Given the description of an element on the screen output the (x, y) to click on. 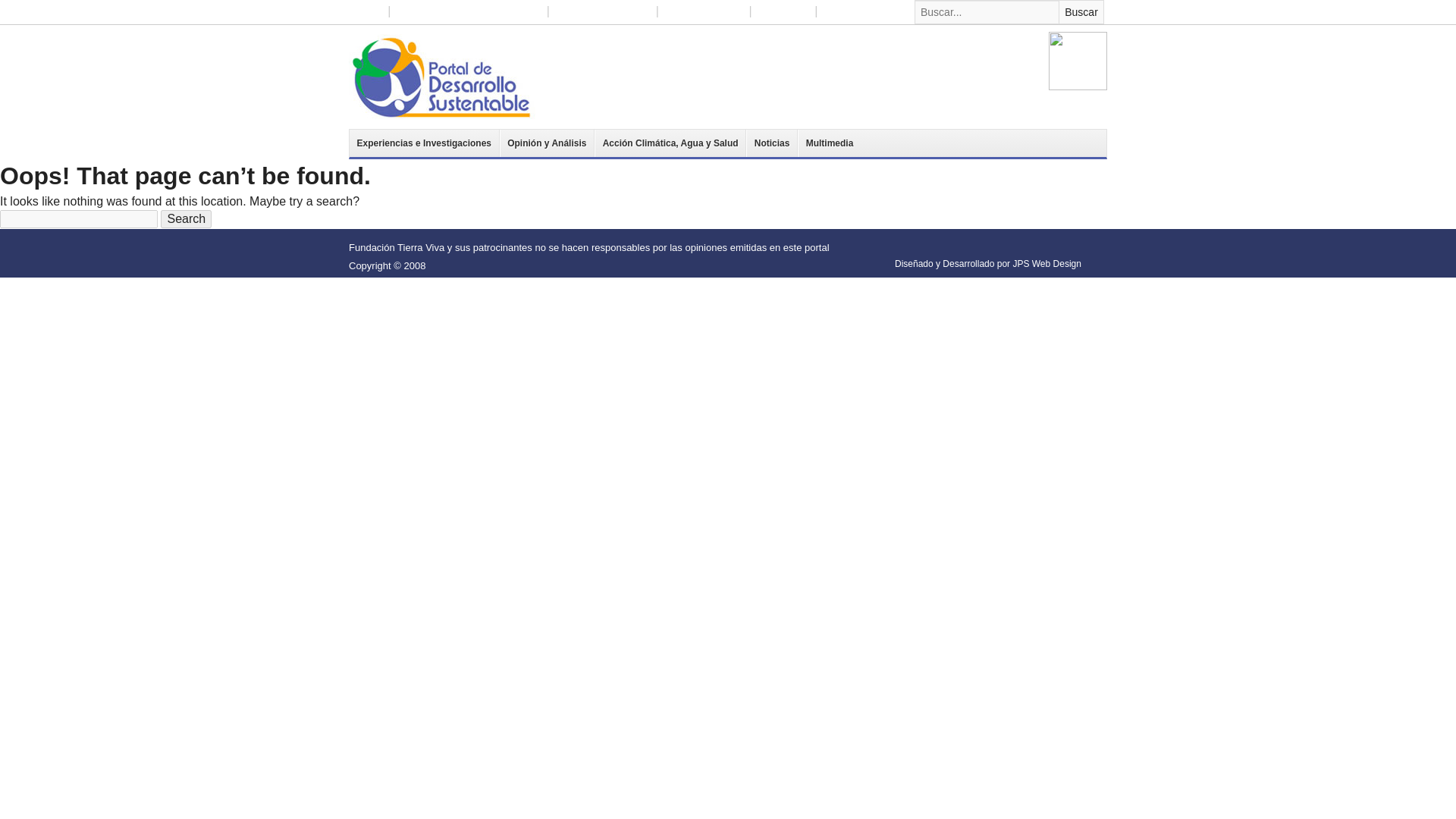
Search (185, 218)
Buscar (1081, 12)
Productos con Historia (603, 11)
Home (368, 11)
Desarrollo Sustentable (442, 76)
Search (185, 218)
Noticias (771, 143)
Experiencias e Investigaciones (424, 143)
JPS Web Design (1046, 263)
Contacto (841, 11)
Multimedia (828, 143)
Donaciones (783, 11)
Buscar (1081, 12)
